Given the description of an element on the screen output the (x, y) to click on. 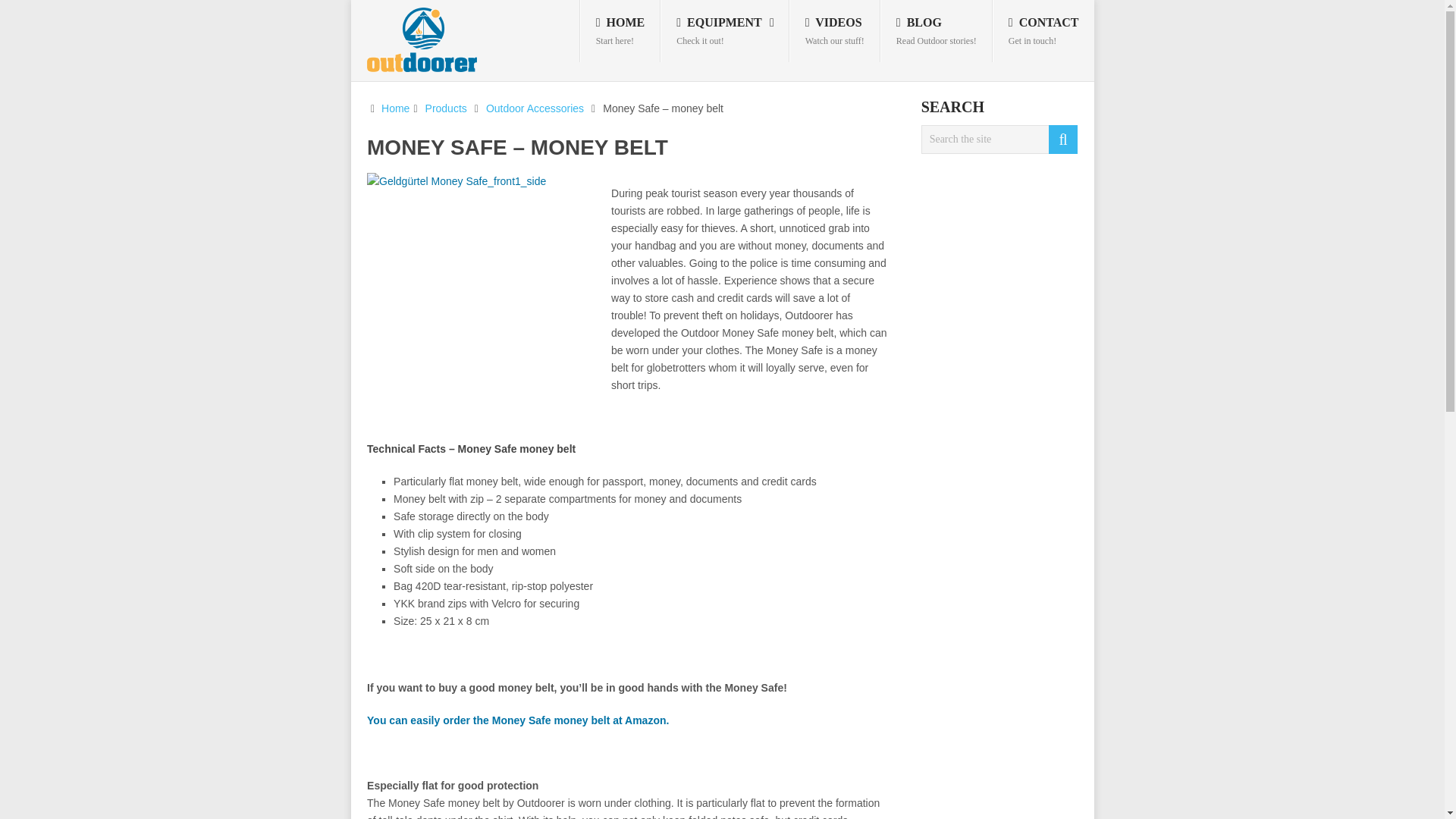
Home (395, 108)
Outoorer Productvideos (834, 31)
Products (446, 108)
Outdoor Accessories (834, 31)
You can easily order the Money Safe money belt at Amazon. (725, 31)
